Given the description of an element on the screen output the (x, y) to click on. 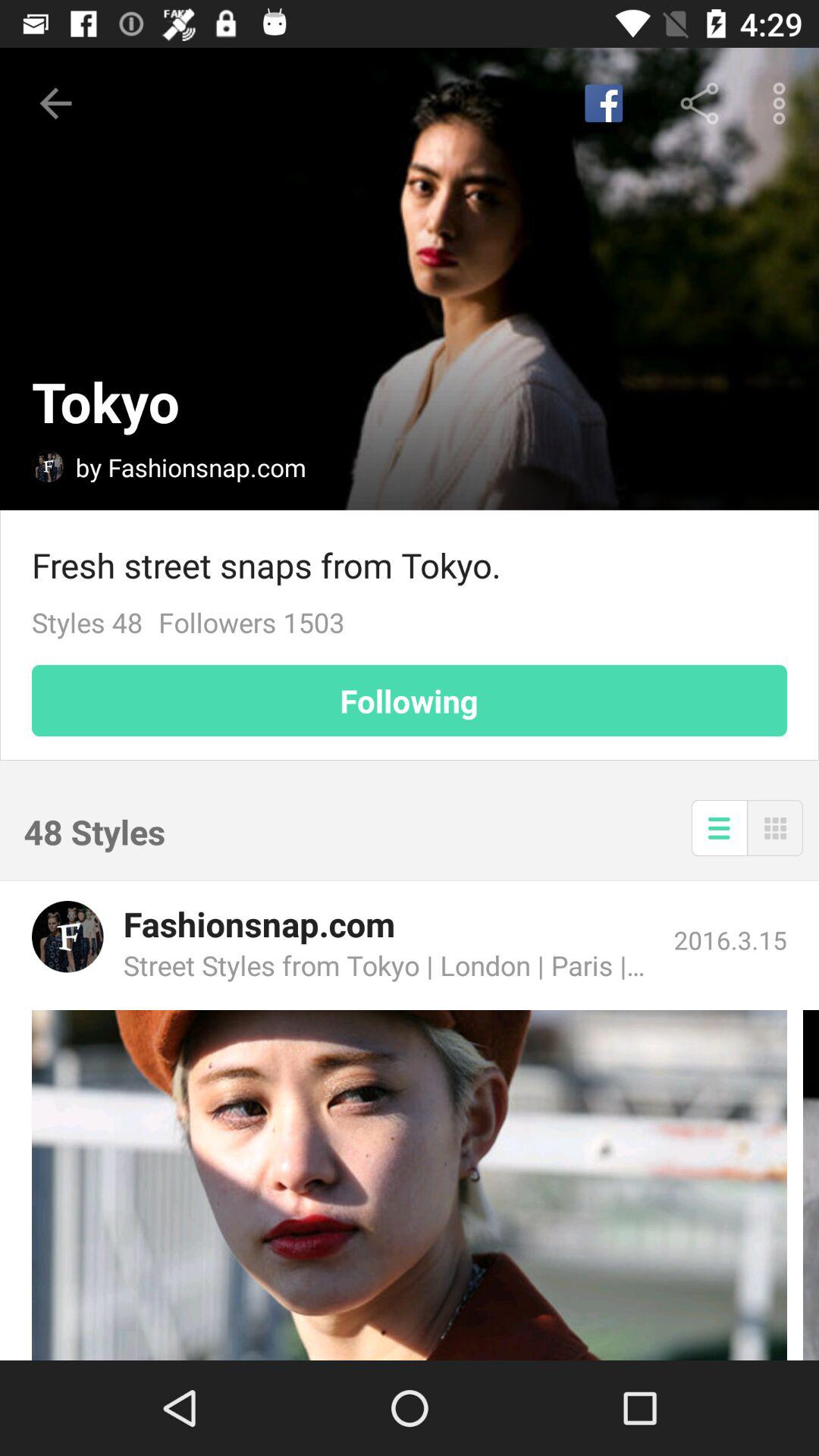
turn off item above the fresh street snaps (783, 103)
